Given the description of an element on the screen output the (x, y) to click on. 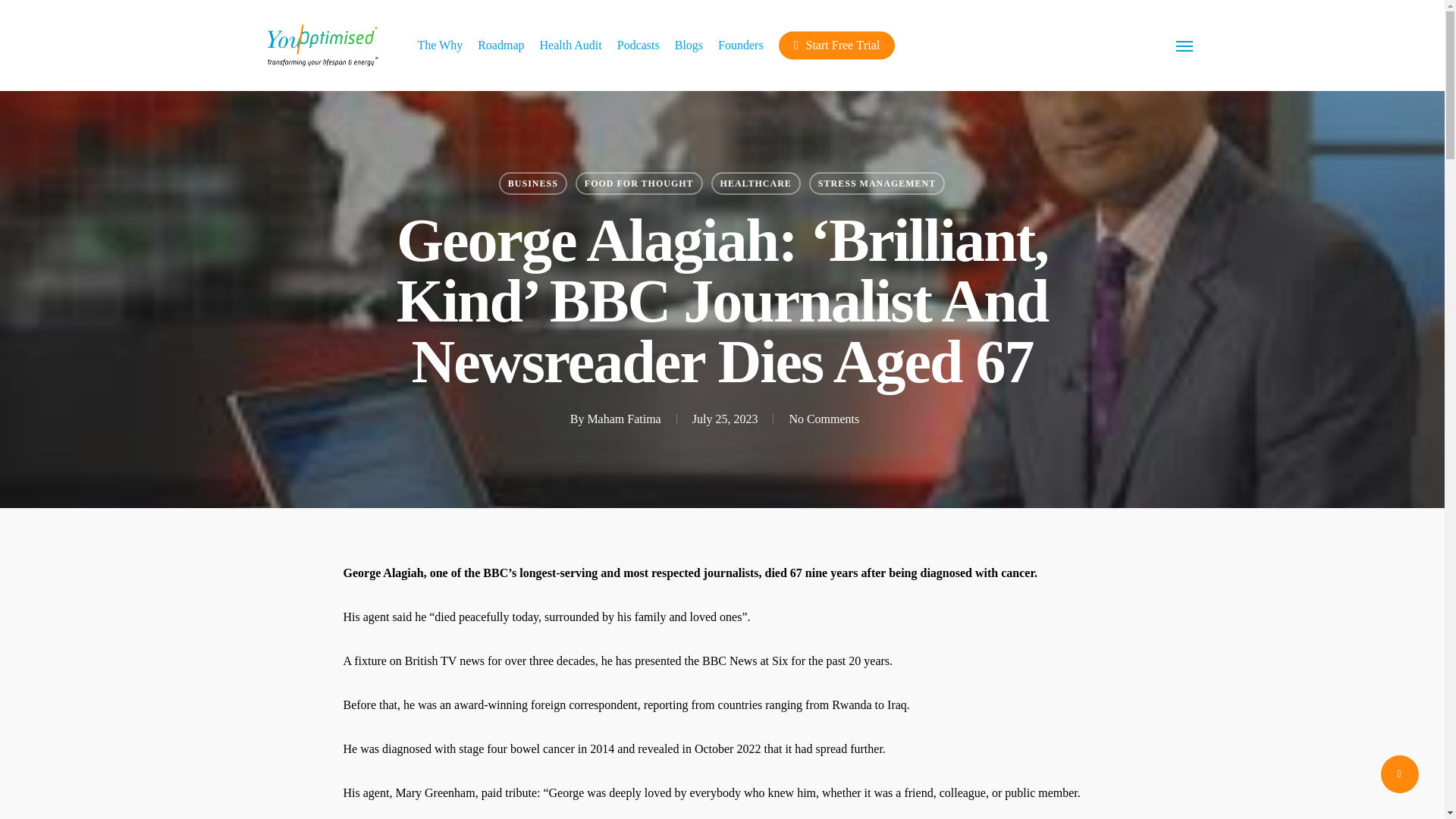
BUSINESS (533, 182)
Maham Fatima (623, 418)
The Why (439, 45)
STRESS MANAGEMENT (876, 182)
Roadmap (500, 45)
FOOD FOR THOUGHT (639, 182)
Founders (739, 45)
Blogs (689, 45)
Health Audit (571, 45)
Podcasts (638, 45)
HEALTHCARE (755, 182)
Menu (1184, 45)
Start Free Trial (836, 45)
Posts by Maham Fatima (623, 418)
No Comments (824, 418)
